Given the description of an element on the screen output the (x, y) to click on. 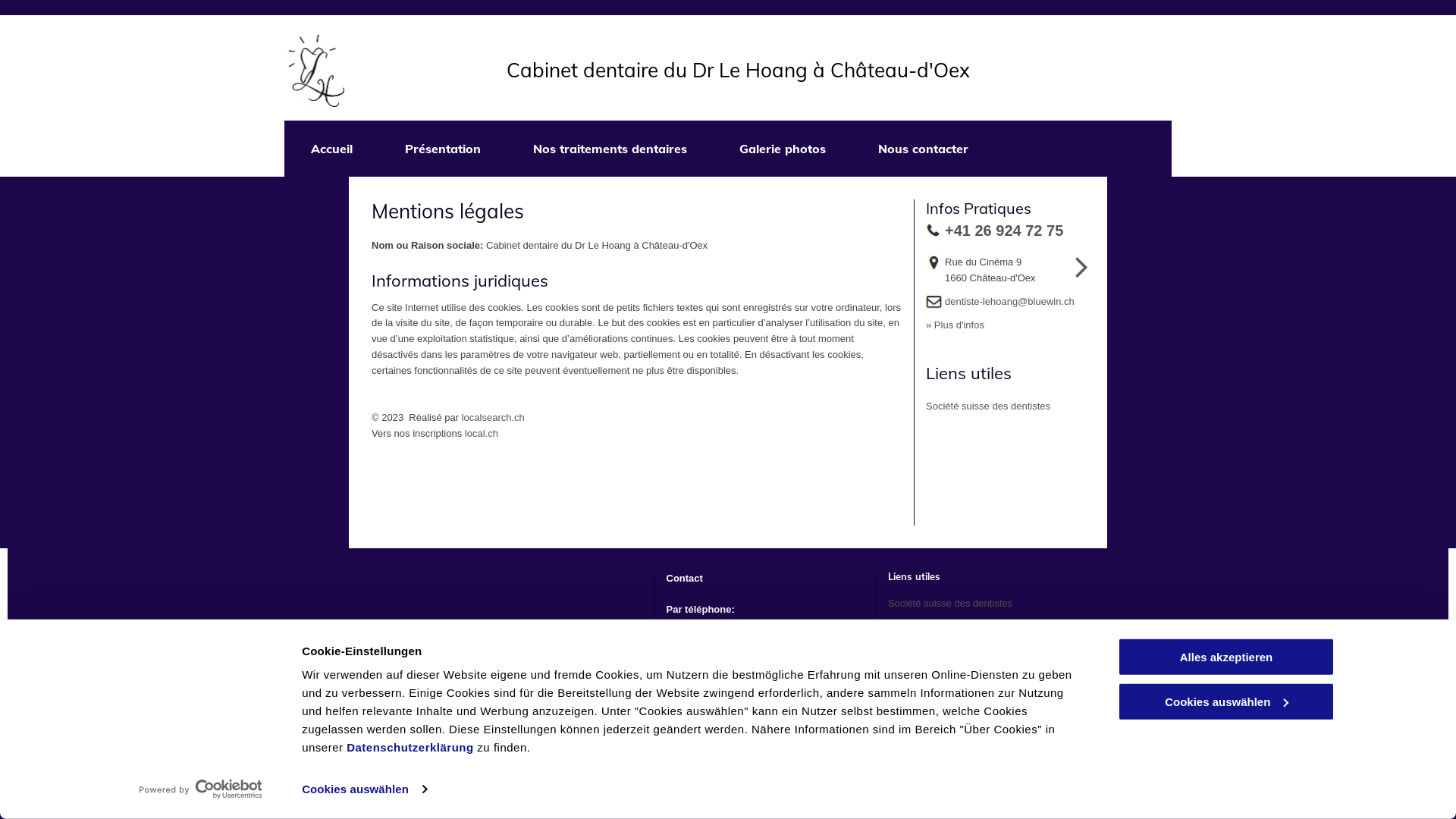
local.ch Element type: text (481, 433)
Nos traitements dentaires Element type: text (609, 148)
Galerie photos Element type: text (781, 148)
Alles akzeptieren Element type: text (1225, 656)
+41 26 924 72 75 Element type: text (1003, 230)
Nous contacter Element type: text (922, 148)
+41 26 924 72 75 Element type: text (704, 624)
Accueil Element type: text (331, 148)
dentiste-lehoang@bluewin.ch Element type: text (1009, 301)
localsearch.ch Element type: text (492, 417)
